Given the description of an element on the screen output the (x, y) to click on. 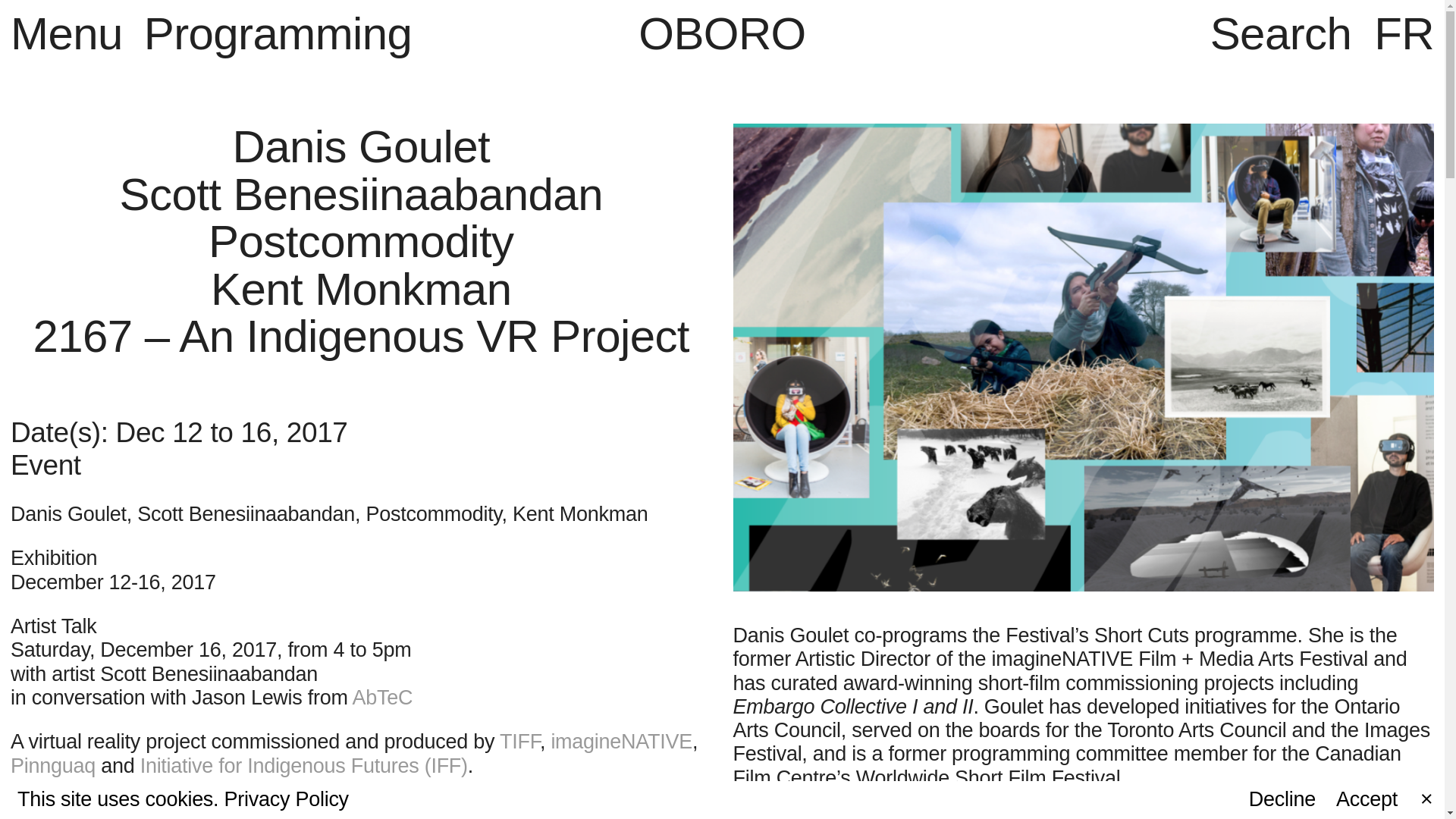
Programming (278, 33)
imagineNATIVE (621, 741)
OBORO (722, 33)
Pinnguaq (53, 765)
TIFF (519, 741)
FR (1404, 33)
AbTeC (382, 697)
